Given the description of an element on the screen output the (x, y) to click on. 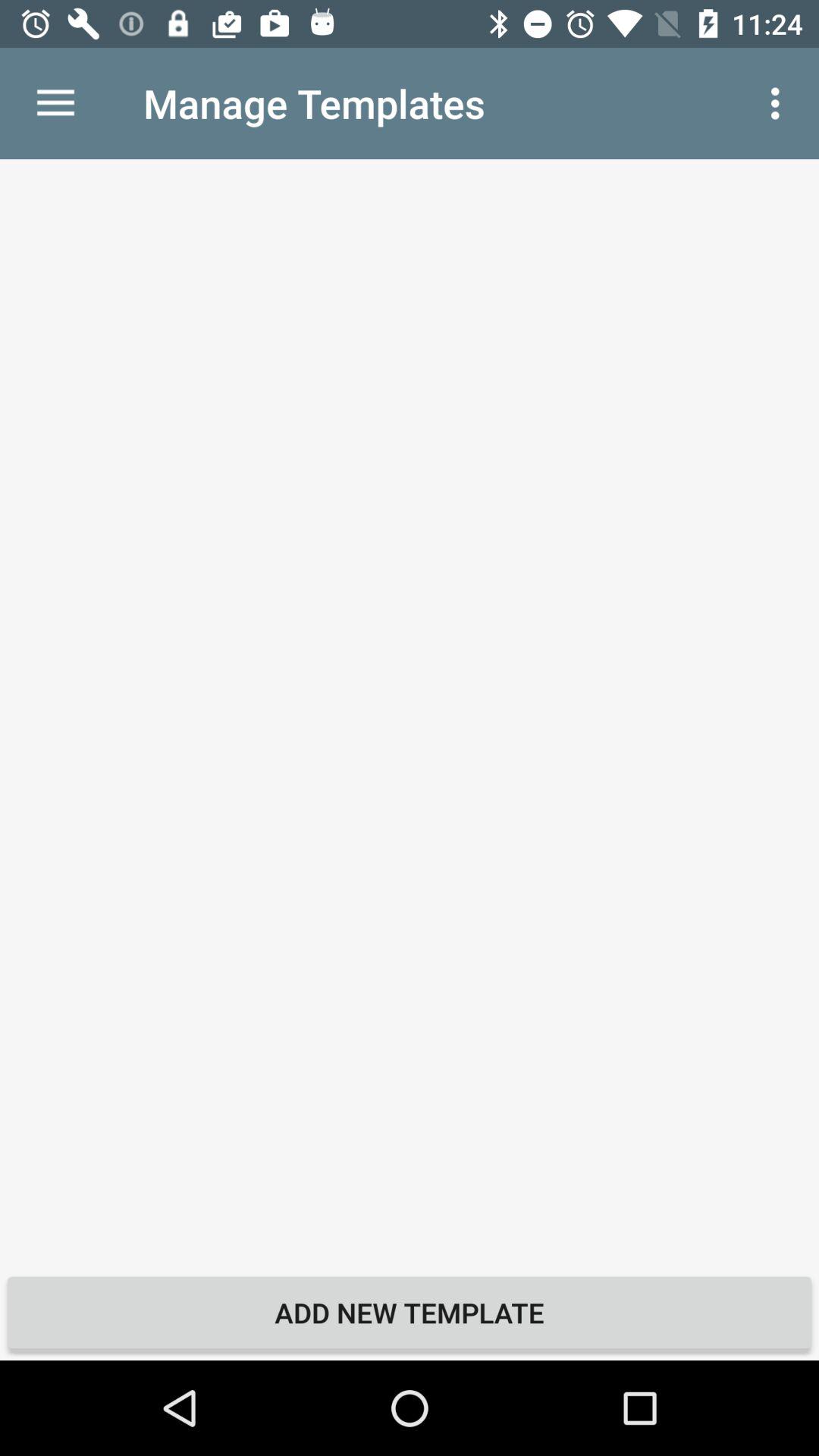
turn off the icon at the top left corner (55, 103)
